Given the description of an element on the screen output the (x, y) to click on. 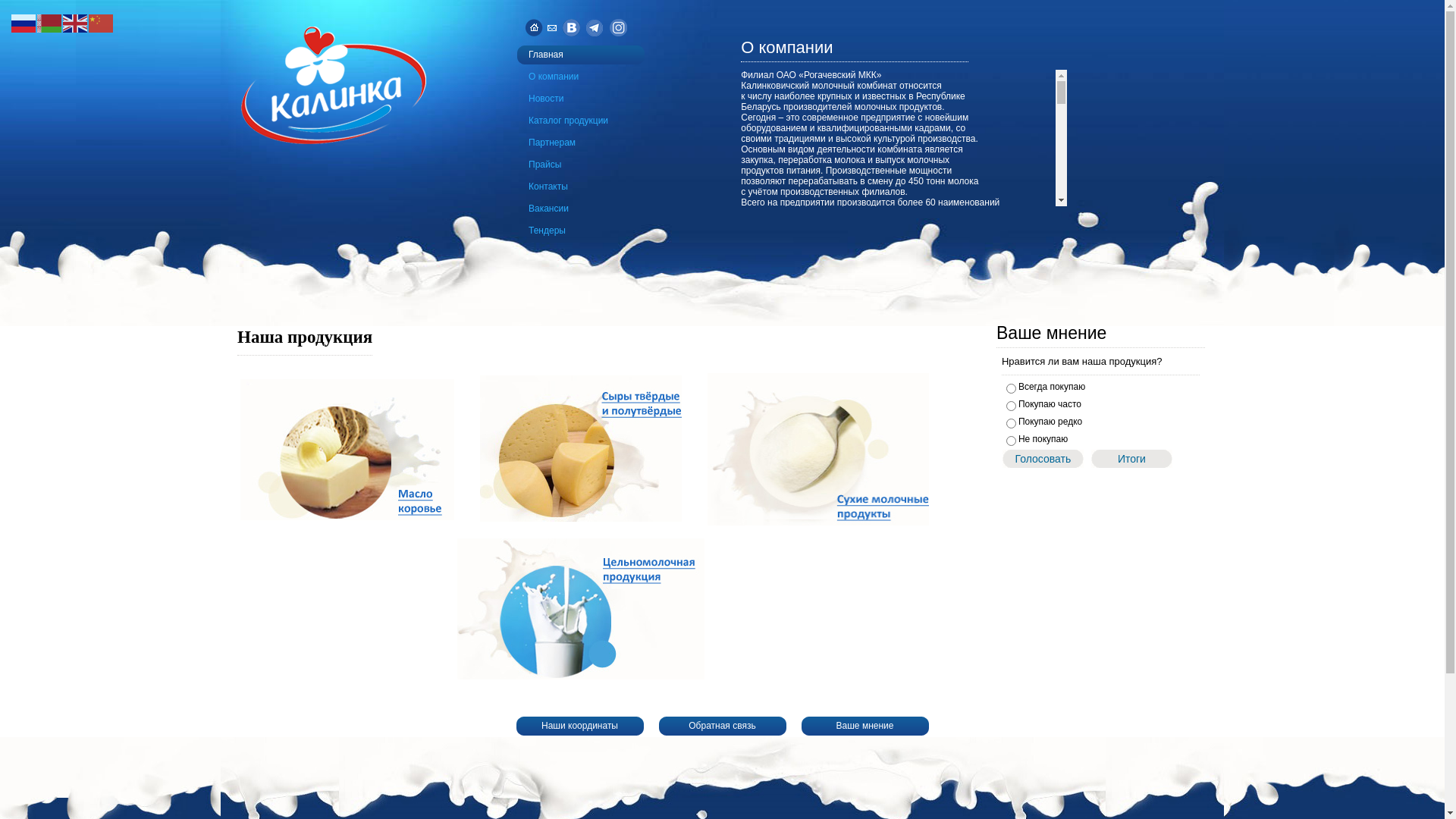
Chinese (Simplified) Element type: hover (101, 22)
Belarusian Element type: hover (49, 22)
English Element type: hover (75, 22)
Russian Element type: hover (24, 22)
